Given the description of an element on the screen output the (x, y) to click on. 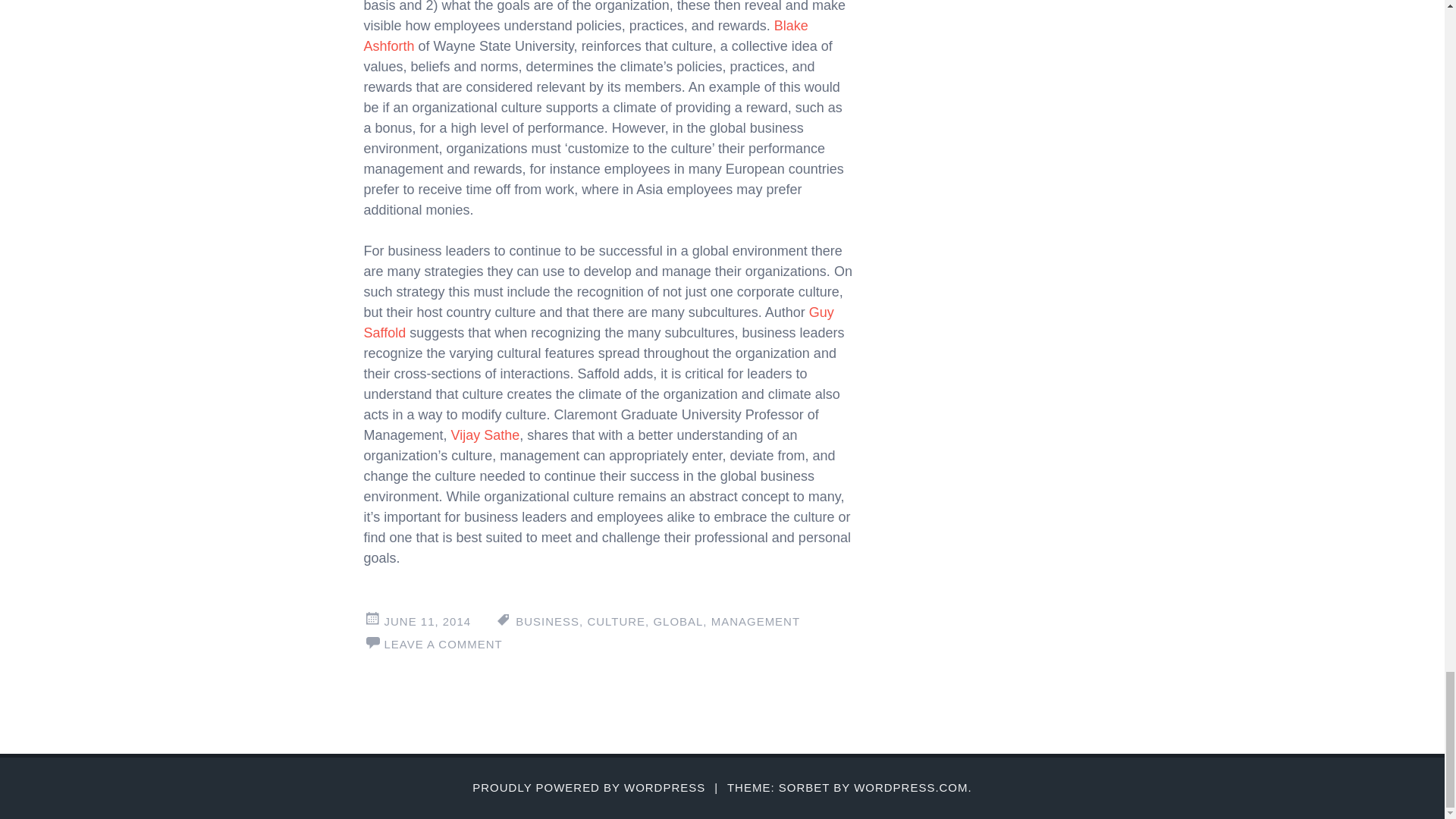
Vijay Sathe (485, 435)
Blake Ashforth (586, 36)
GLOBAL (677, 621)
CULTURE (615, 621)
LEAVE A COMMENT (443, 644)
6:15 pm (427, 621)
Guy Saffold (599, 322)
BUSINESS (547, 621)
MANAGEMENT (755, 621)
JUNE 11, 2014 (427, 621)
